Given the description of an element on the screen output the (x, y) to click on. 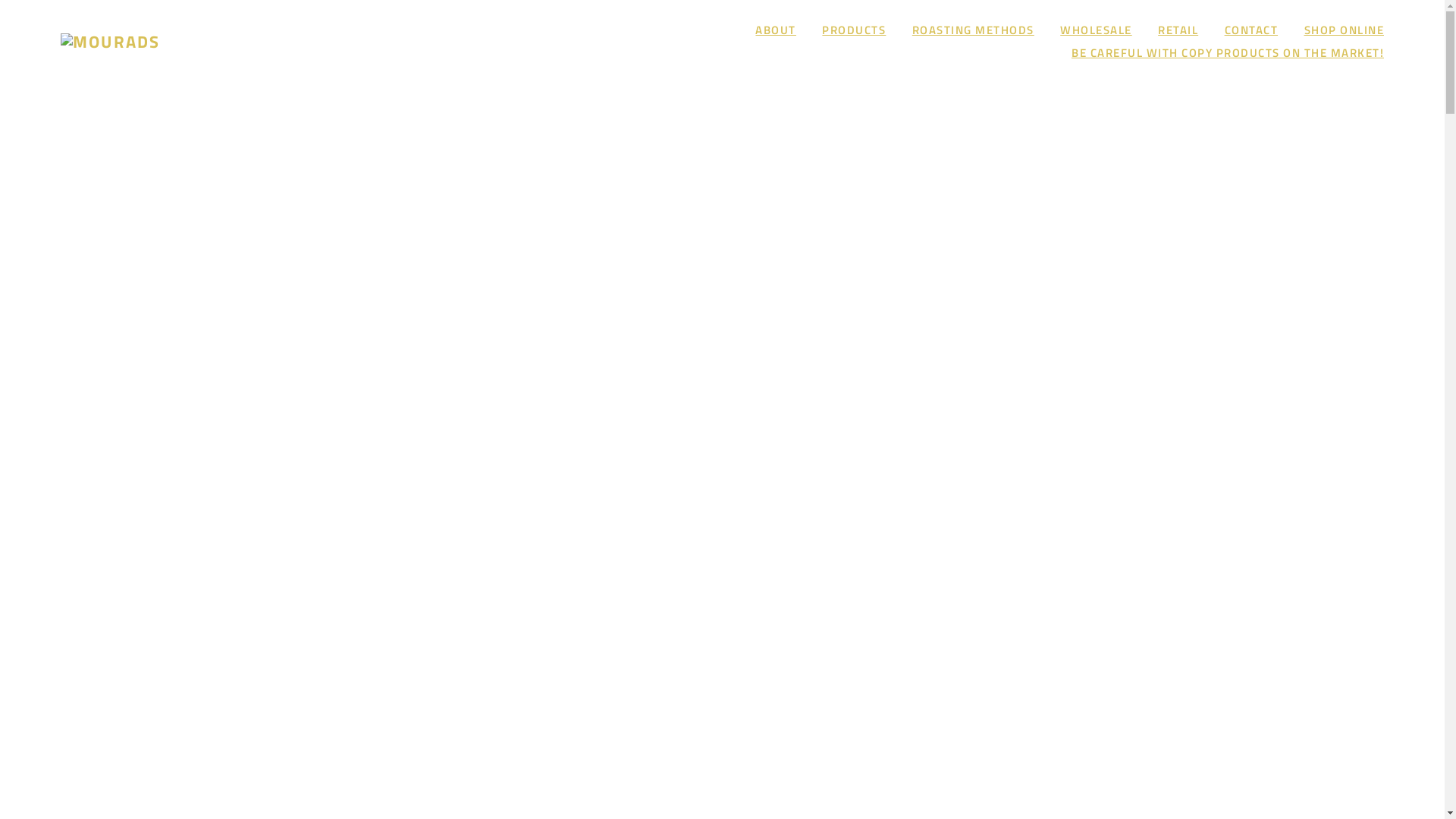
WHOLESALE Element type: text (1096, 29)
SHOP ONLINE Element type: text (1344, 29)
BE CAREFUL WITH COPY PRODUCTS ON THE MARKET! Element type: text (1227, 52)
ROASTING METHODS Element type: text (973, 29)
PRODUCTS Element type: text (853, 29)
RETAIL Element type: text (1177, 29)
CONTACT Element type: text (1251, 29)
ABOUT Element type: text (775, 29)
